Given the description of an element on the screen output the (x, y) to click on. 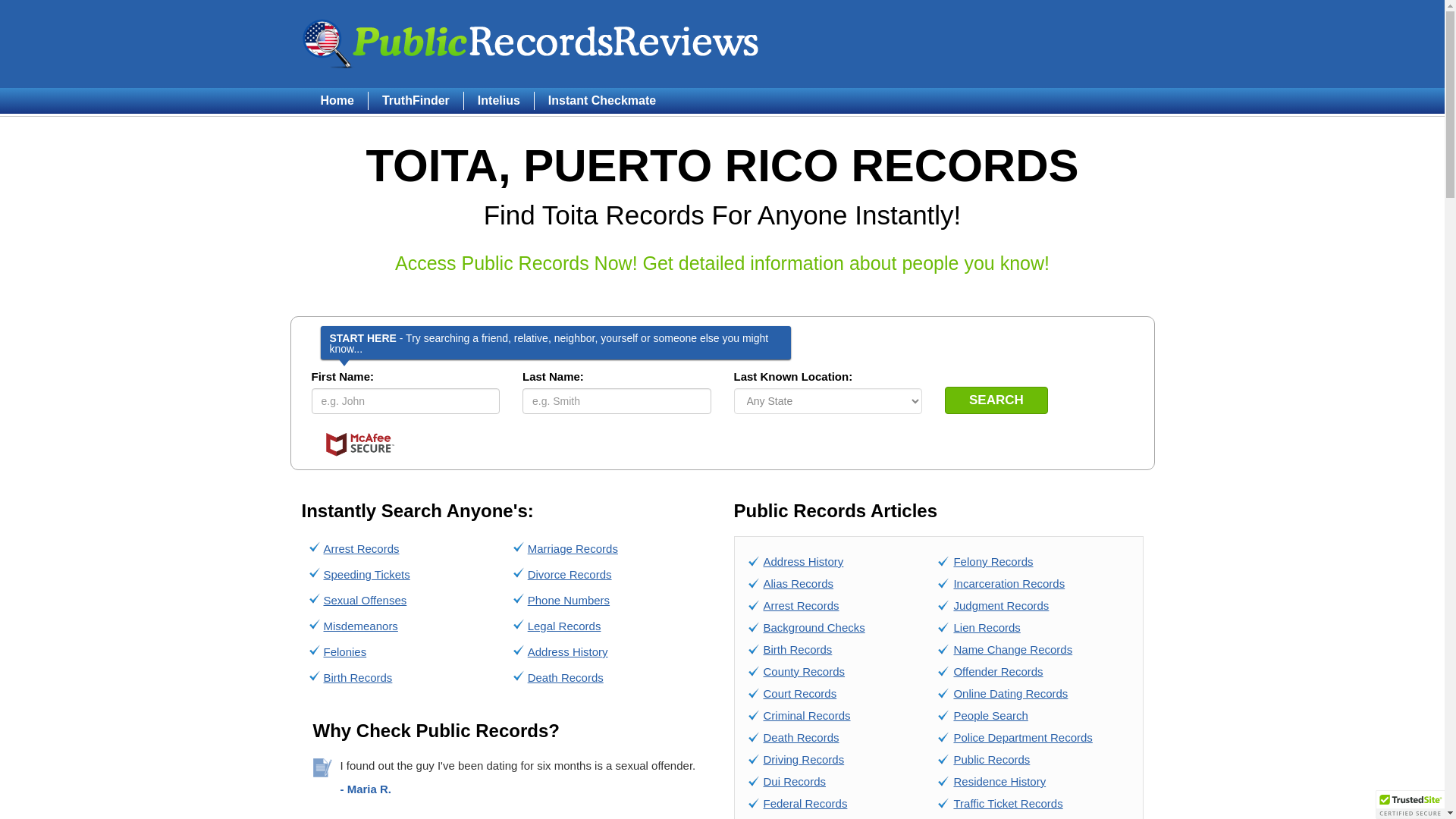
Address History (802, 561)
Court Records (798, 693)
Incarceration Records (1008, 583)
Federal Records (804, 802)
Name Change Records (1012, 649)
Public Record Reviews (530, 43)
Offender Records (997, 671)
Death Records (565, 676)
Lien Records (986, 626)
Intelius (498, 100)
